Given the description of an element on the screen output the (x, y) to click on. 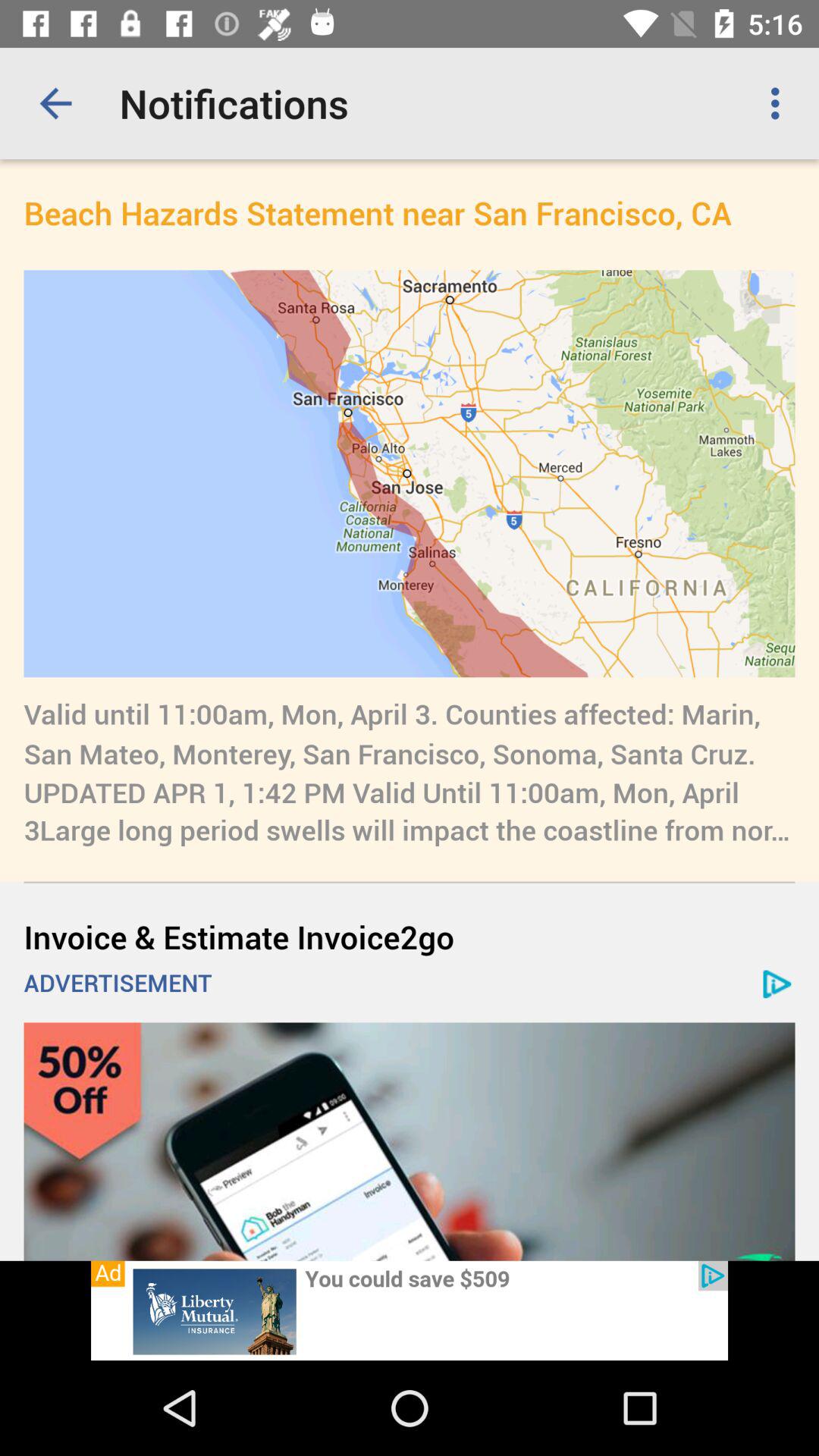
open advertisement (409, 1141)
